Given the description of an element on the screen output the (x, y) to click on. 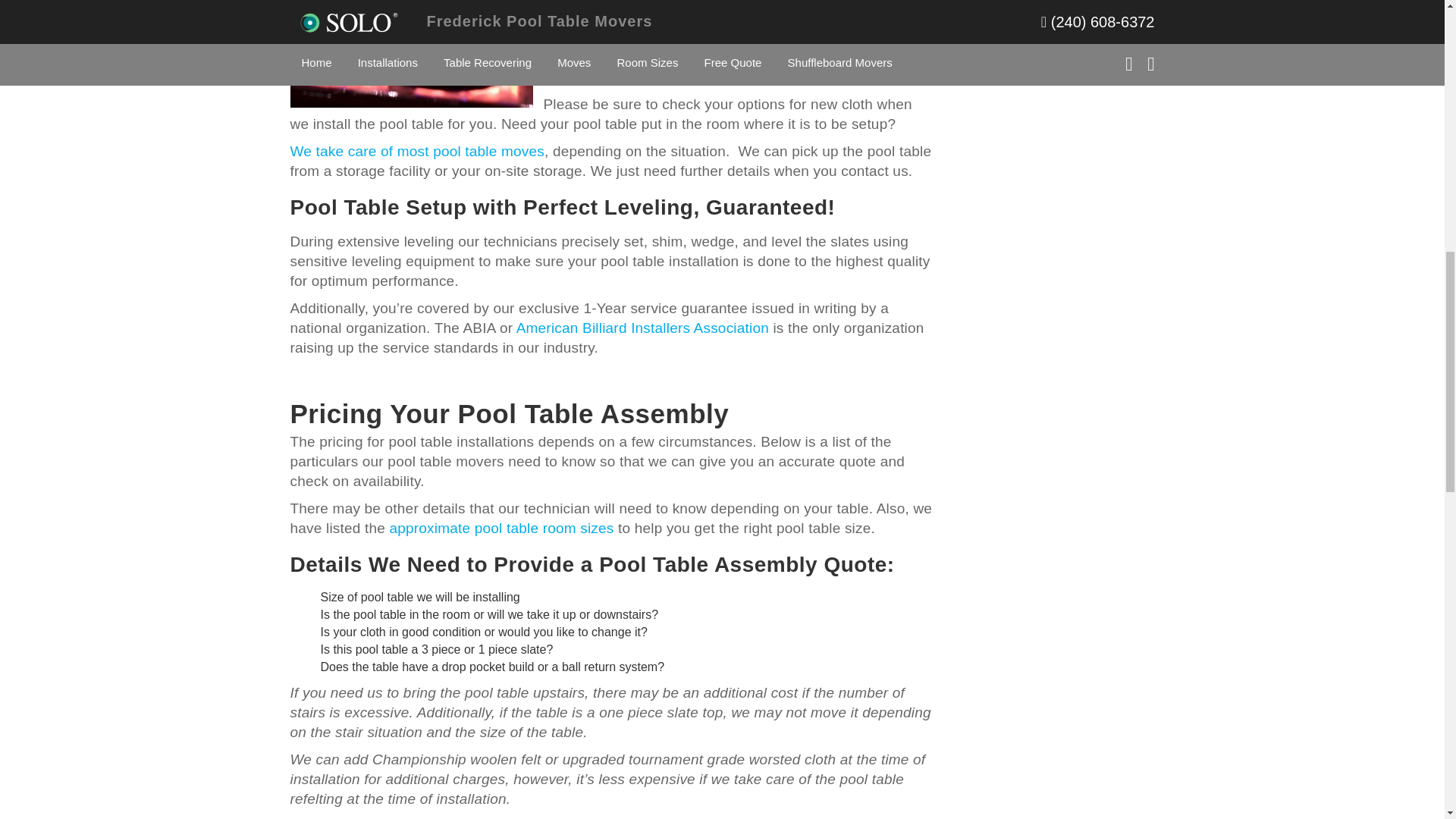
American Billiard Installers Association (642, 327)
We take care of most pool table moves (416, 150)
approximate pool table room sizes (502, 528)
